Given the description of an element on the screen output the (x, y) to click on. 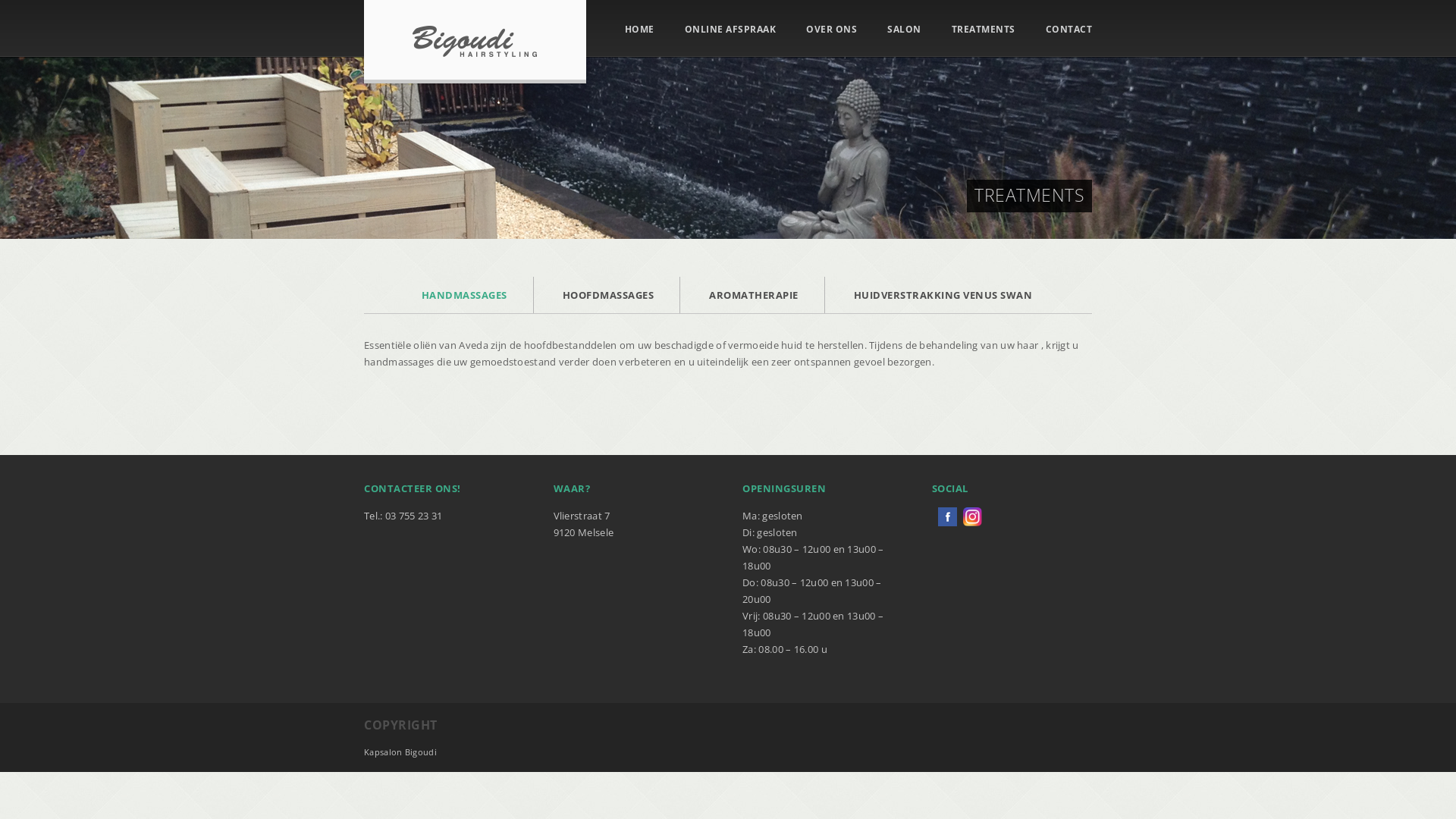
SALON Element type: text (904, 29)
AROMATHERAPIE Element type: text (752, 294)
CONTACT Element type: text (1068, 29)
ONLINE AFSPRAAK Element type: text (729, 29)
OVER ONS Element type: text (831, 29)
HOME Element type: text (639, 29)
HOOFDMASSAGES Element type: text (606, 294)
HANDMASSAGES Element type: text (462, 294)
HUIDVERSTRAKKING VENUS SWAN   Element type: text (944, 294)
TREATMENTS Element type: text (982, 29)
